Given the description of an element on the screen output the (x, y) to click on. 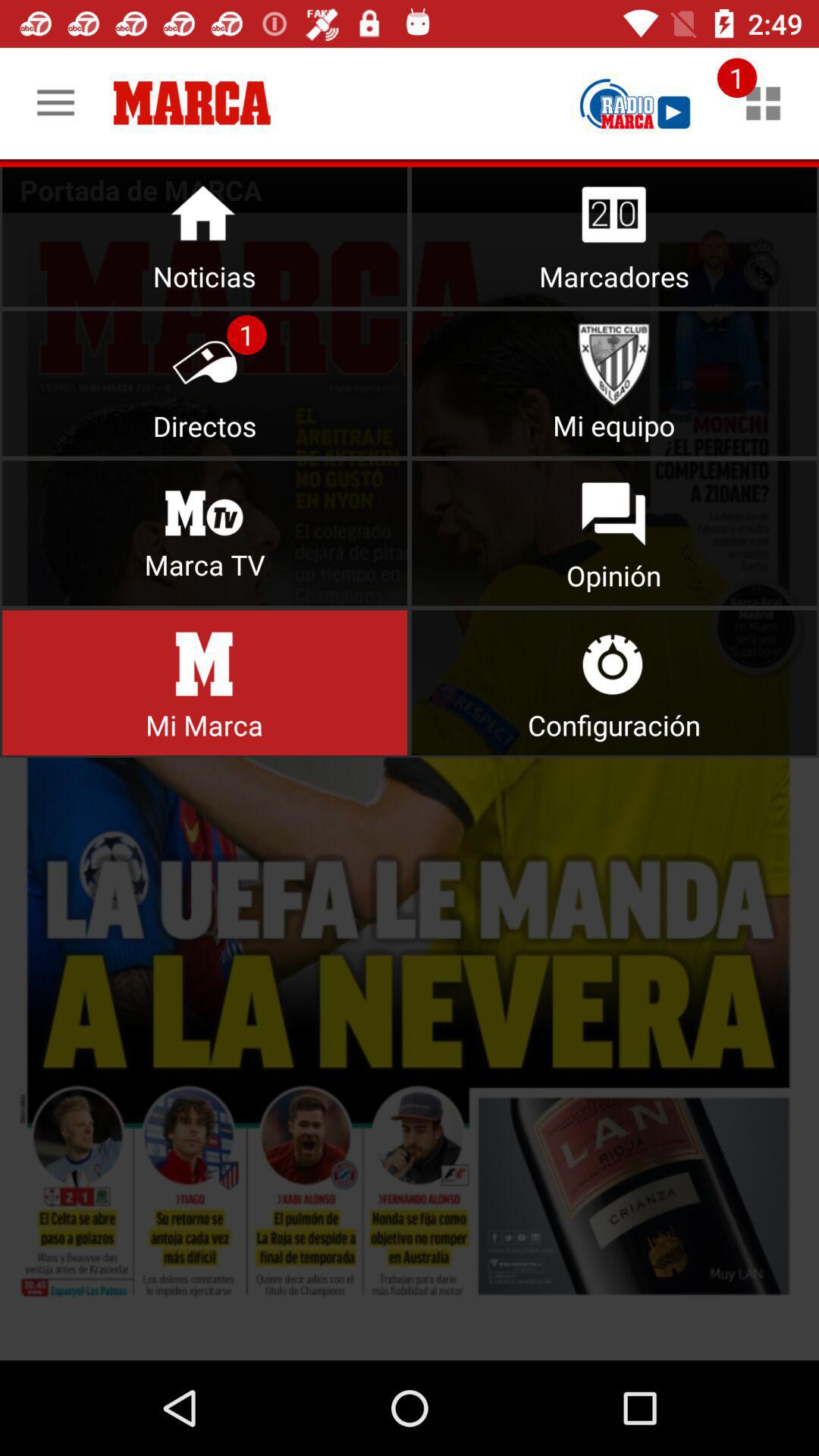
open setting (614, 682)
